Given the description of an element on the screen output the (x, y) to click on. 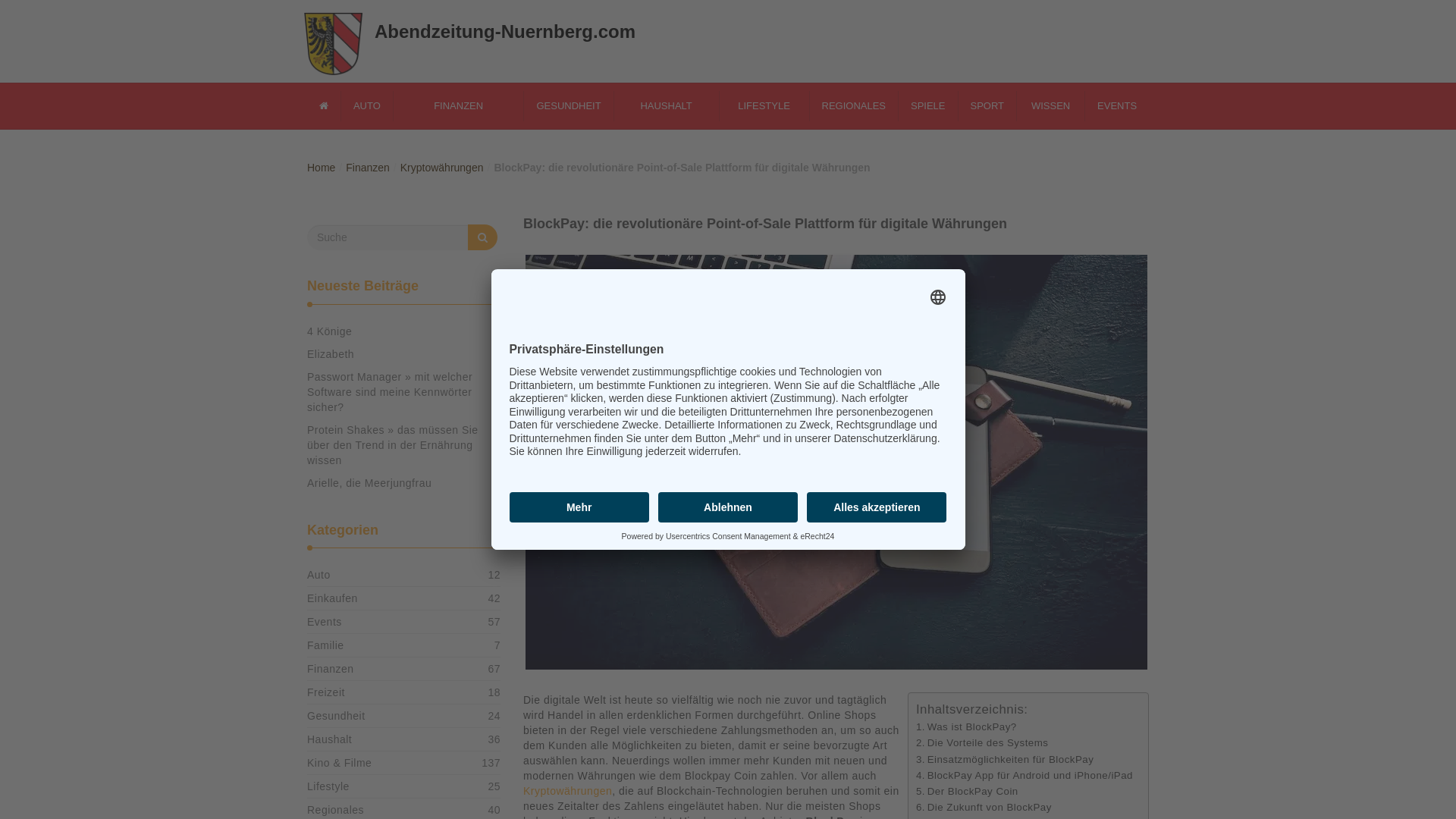
REGIONALES Element type: text (847, 106)
Kino & Filme
137 Element type: text (339, 762)
Abendzeitung-Nuernberg.com Element type: text (493, 30)
Lifestyle
25 Element type: text (328, 786)
Haushalt
36 Element type: text (329, 739)
Was ist BlockPay? Element type: text (960, 726)
Arielle, die Meerjungfrau Element type: text (369, 482)
Events
57 Element type: text (324, 621)
Der BlockPay Coin Element type: text (961, 791)
AUTO Element type: text (360, 106)
LIFESTYLE Element type: text (758, 106)
GESUNDHEIT Element type: text (562, 106)
Familie
7 Element type: text (325, 644)
Home Element type: text (315, 167)
Gesundheit
24 Element type: text (336, 715)
Einkaufen
42 Element type: text (332, 597)
EVENTS Element type: text (1111, 106)
Auto
12 Element type: text (318, 574)
Finanzen
67 Element type: text (330, 668)
Elizabeth Element type: text (330, 353)
Die Zukunft von BlockPay Element type: text (977, 807)
Die Vorteile des Systems Element type: text (976, 742)
WISSEN Element type: text (1045, 106)
Freizeit
18 Element type: text (326, 692)
Finanzen Element type: text (362, 167)
SPIELE Element type: text (922, 106)
FINANZEN Element type: text (452, 106)
SPORT Element type: text (981, 106)
HAUSHALT Element type: text (660, 106)
